Given the description of an element on the screen output the (x, y) to click on. 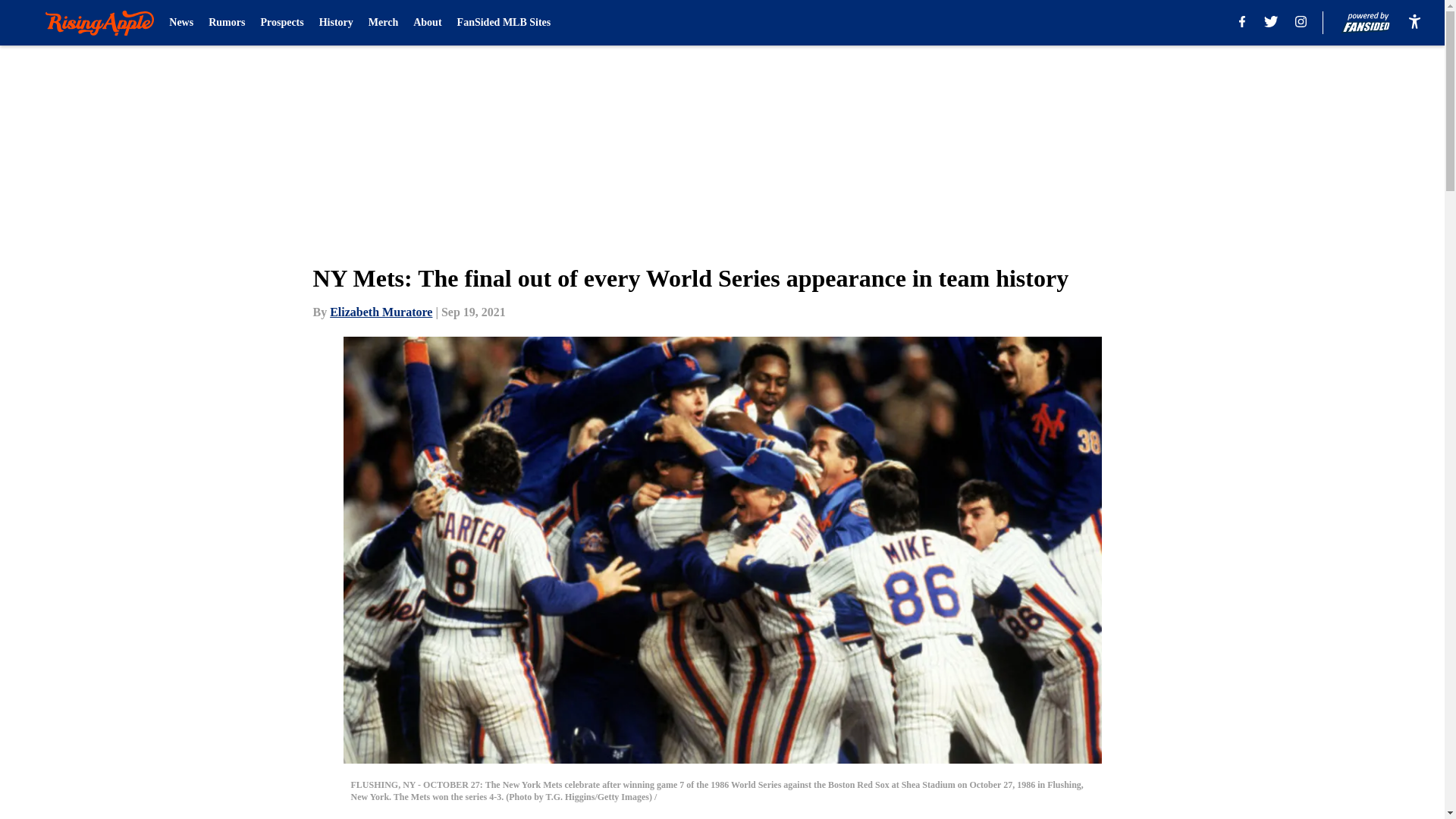
Prospects (281, 22)
History (335, 22)
Elizabeth Muratore (381, 311)
News (180, 22)
About (427, 22)
Merch (382, 22)
Rumors (226, 22)
FanSided MLB Sites (504, 22)
